Given the description of an element on the screen output the (x, y) to click on. 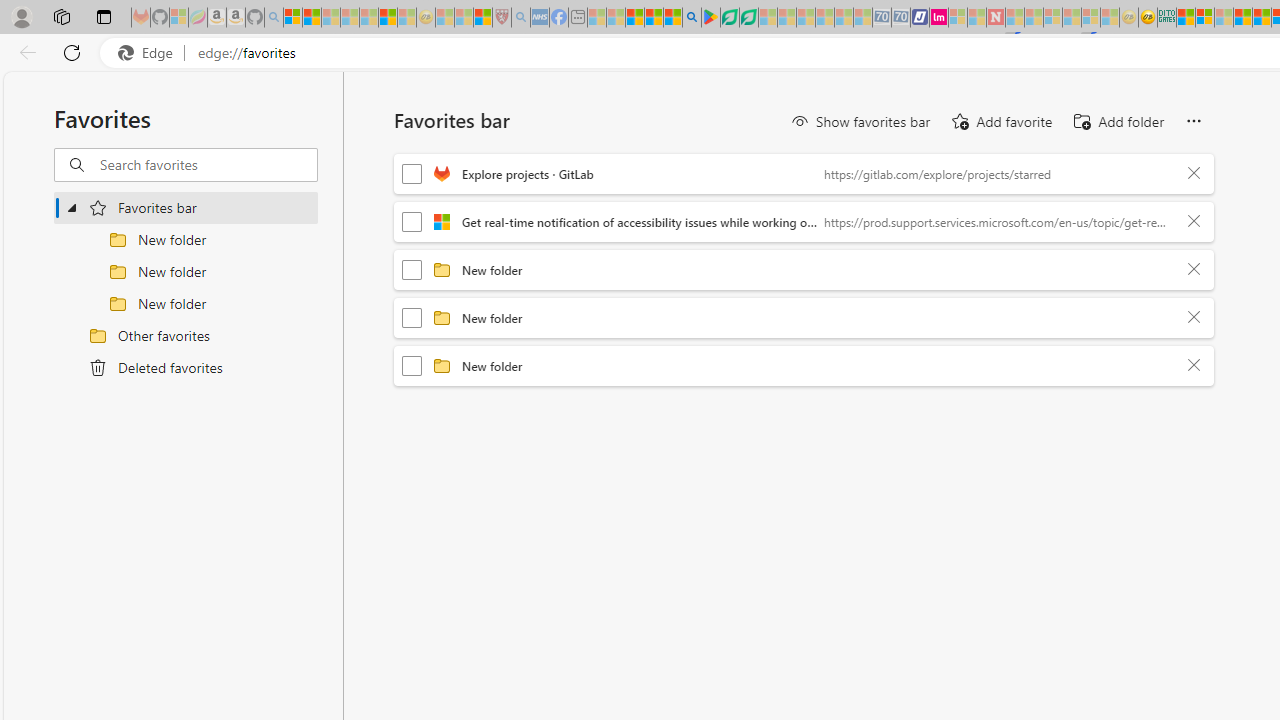
Jobs - lastminute.com Investor Portal (939, 17)
Microsoft-Report a Concern to Bing - Sleeping (179, 17)
Microsoft Word - consumer-privacy address update 2.2021 (748, 17)
Microsoft account | Privacy - Sleeping (957, 17)
NCL Adult Asthma Inhaler Choice Guideline - Sleeping (540, 17)
Cheap Car Rentals - Save70.com - Sleeping (881, 17)
Cheap Hotels - Save70.com - Sleeping (901, 17)
MSNBC - MSN - Sleeping (596, 17)
Pets - MSN (654, 17)
Add folder (1117, 121)
